Given the description of an element on the screen output the (x, y) to click on. 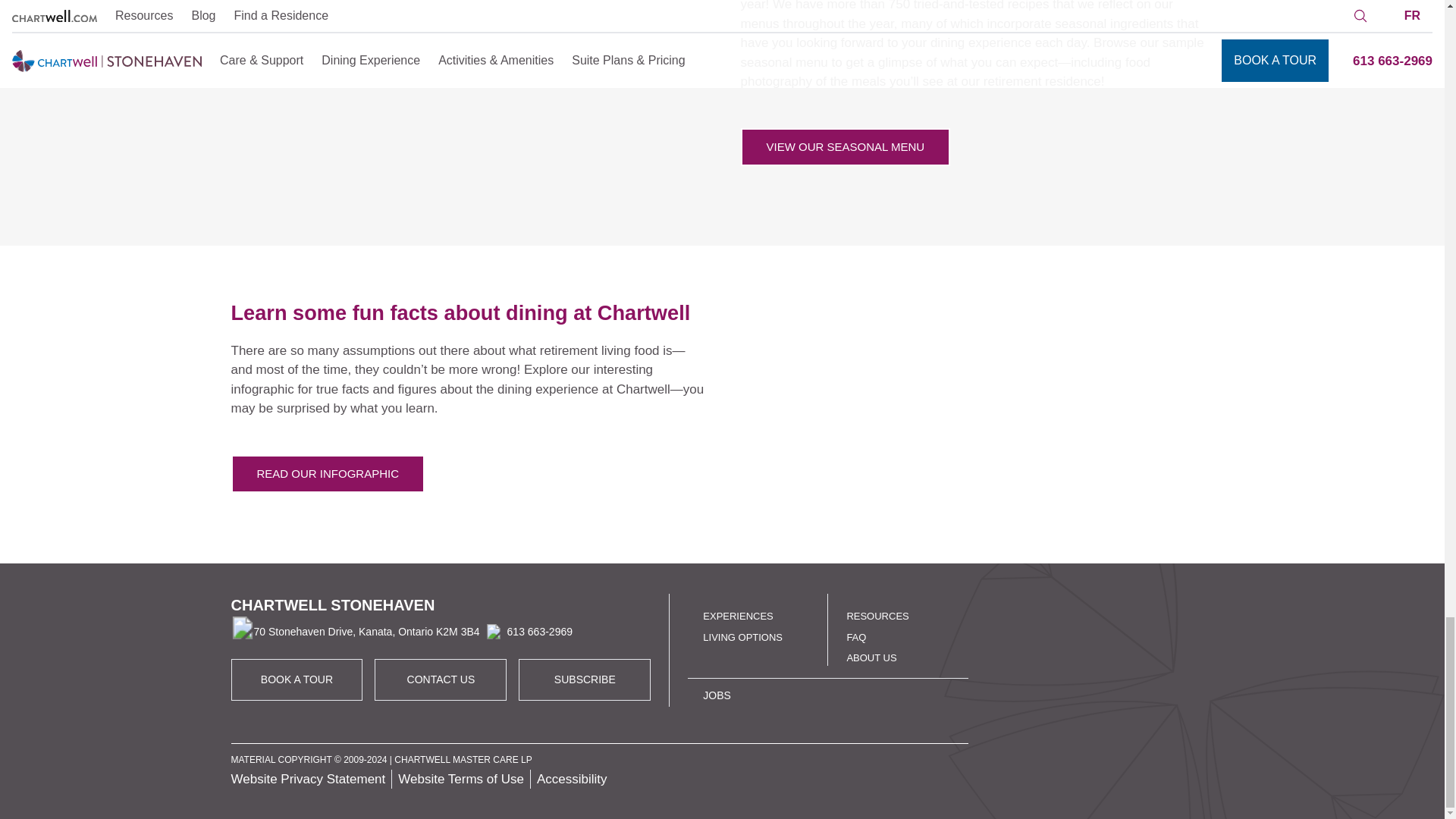
Instagram (1104, 738)
Website Privacy Statement (307, 779)
JOBS (716, 694)
FAQ (855, 636)
613 663-2969 (526, 631)
70 Stonehaven Drive, Kanata, Ontario K2M 3B4 (354, 631)
CONTACT US (441, 679)
EXPERIENCES (738, 615)
LIVING OPTIONS (844, 147)
